Given the description of an element on the screen output the (x, y) to click on. 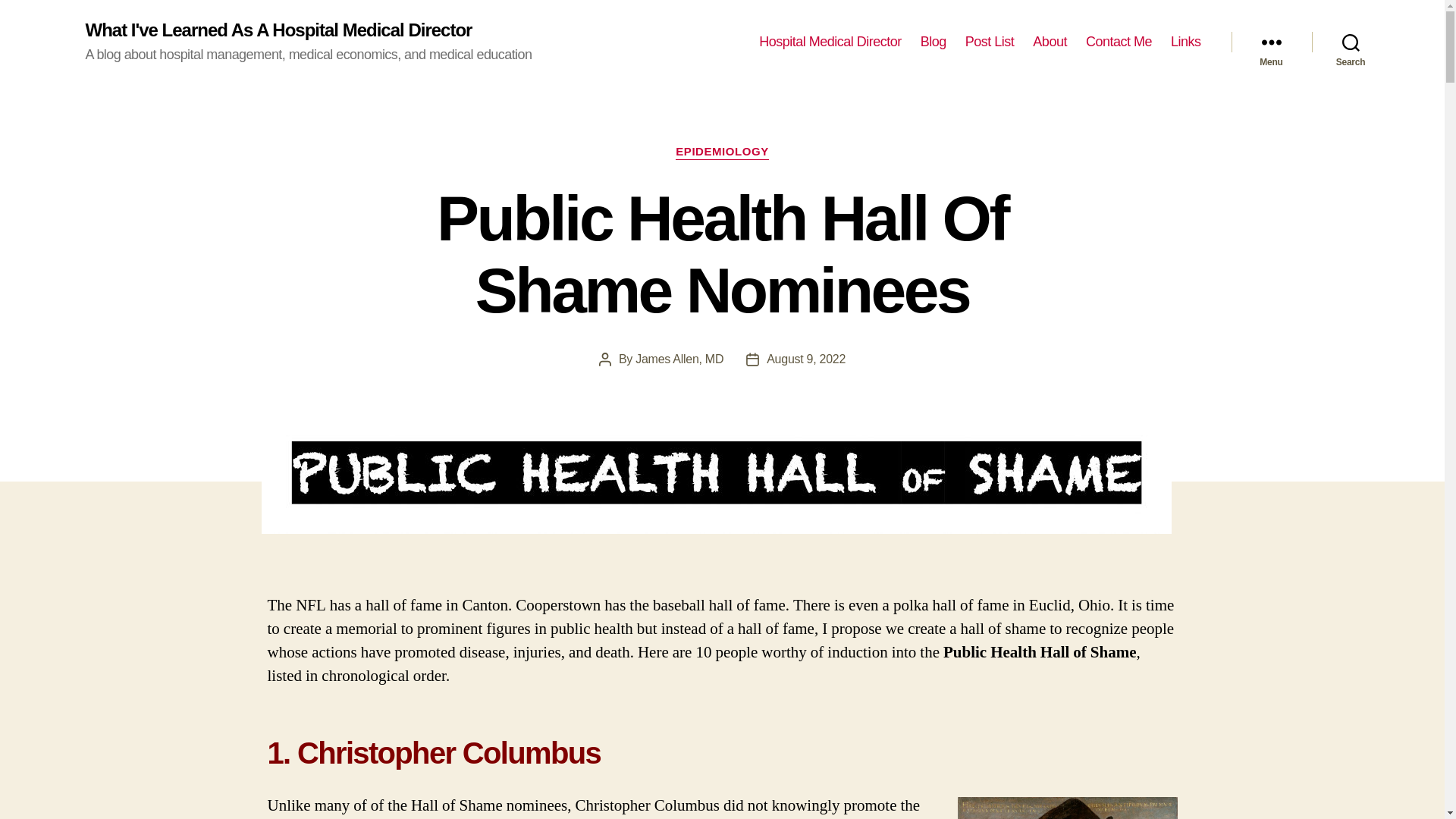
August 9, 2022 (806, 358)
EPIDEMIOLOGY (721, 151)
Contact Me (1118, 42)
What I've Learned As A Hospital Medical Director (277, 30)
Menu (1271, 41)
About (1049, 42)
Post List (989, 42)
Links (1185, 42)
Blog (933, 42)
Hospital Medical Director (829, 42)
James Allen, MD (678, 358)
Search (1350, 41)
